Given the description of an element on the screen output the (x, y) to click on. 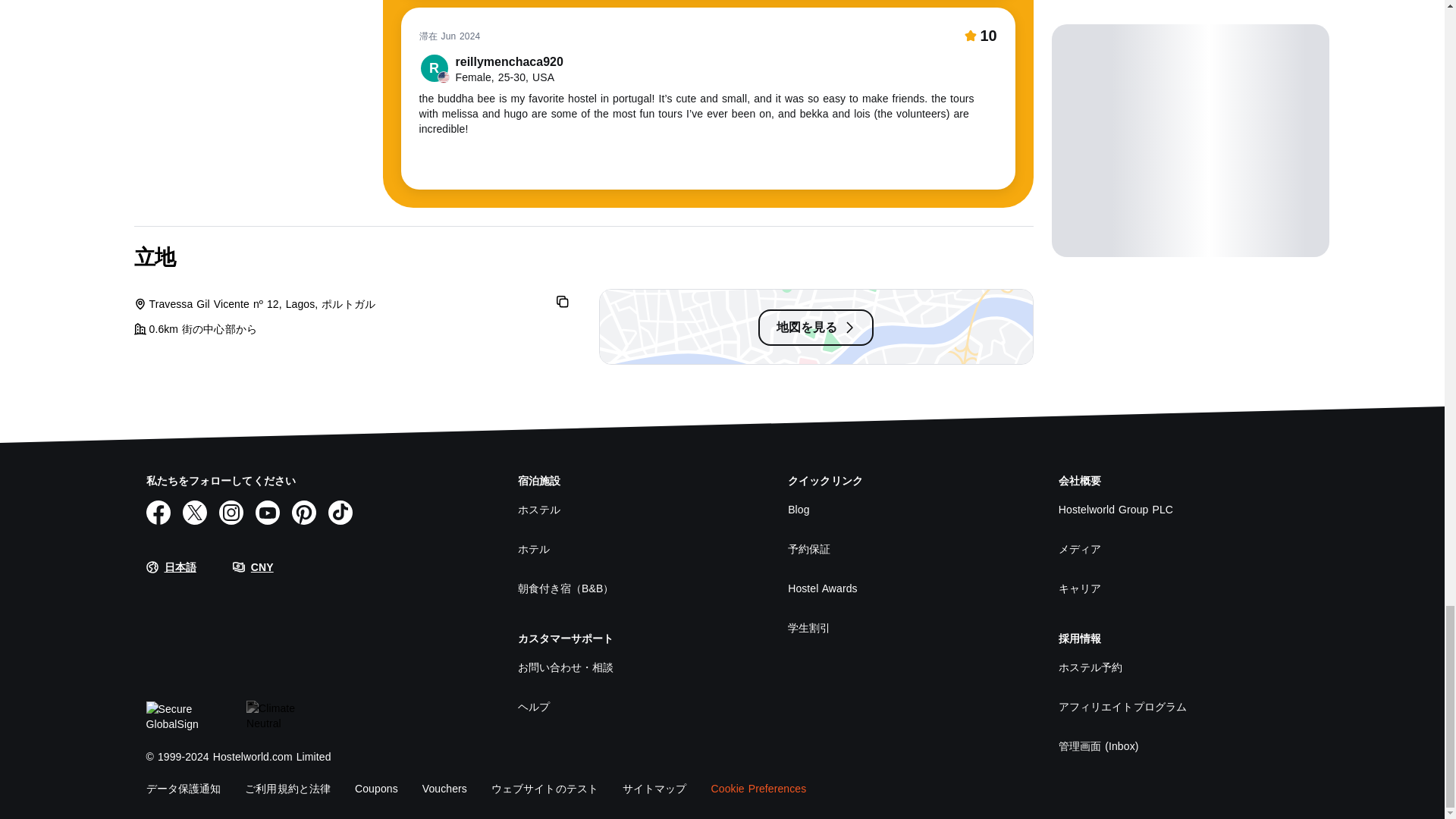
Hostelworld Instagram (230, 512)
Hostelworld Tiktok (339, 512)
reillymenchaca920 (490, 69)
Hostelworld Pinterest (303, 512)
Blog (904, 509)
Hostel Awards (904, 588)
